Given the description of an element on the screen output the (x, y) to click on. 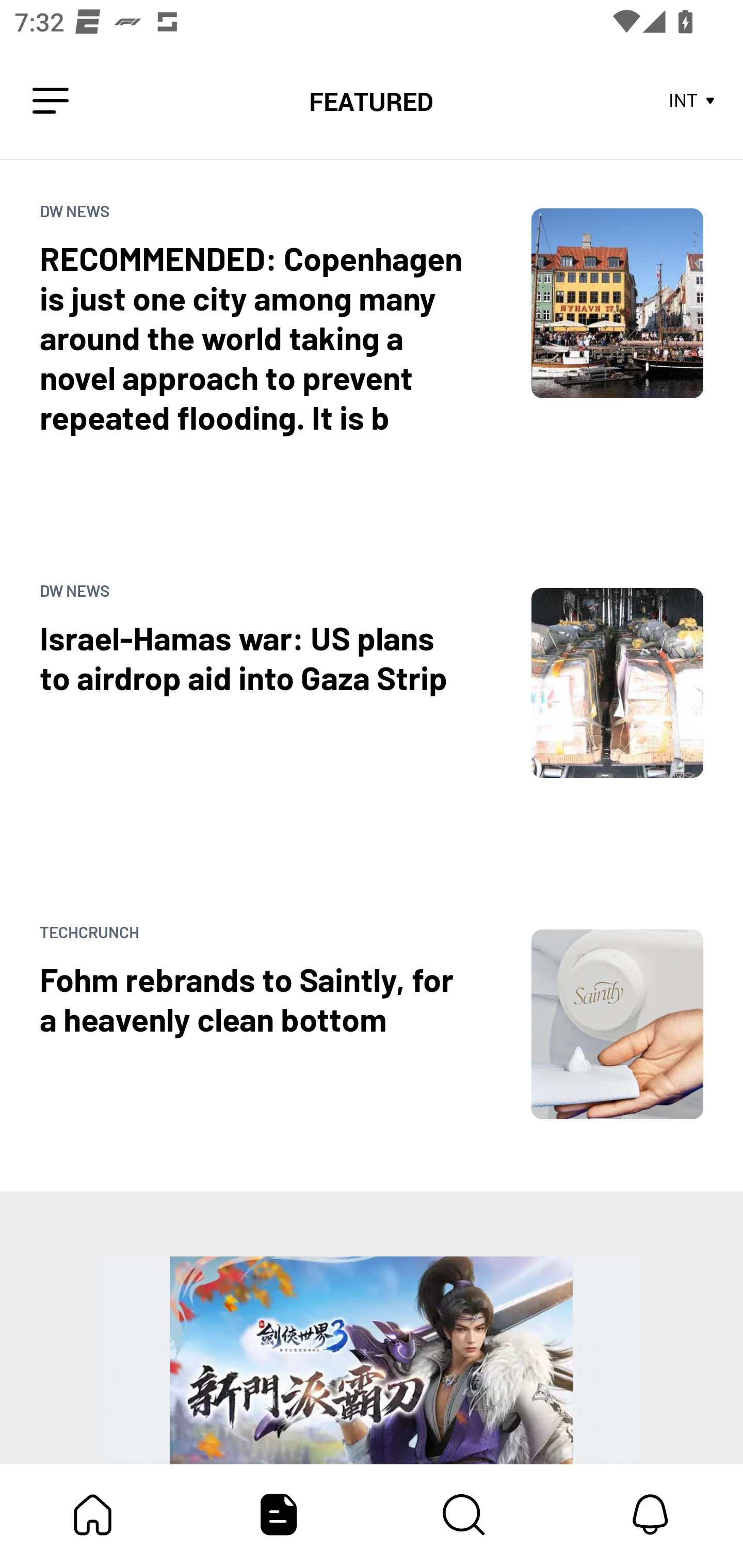
Leading Icon (50, 101)
INT Store Area (692, 101)
My Bundle (92, 1514)
Content Store (464, 1514)
Notifications (650, 1514)
